Given the description of an element on the screen output the (x, y) to click on. 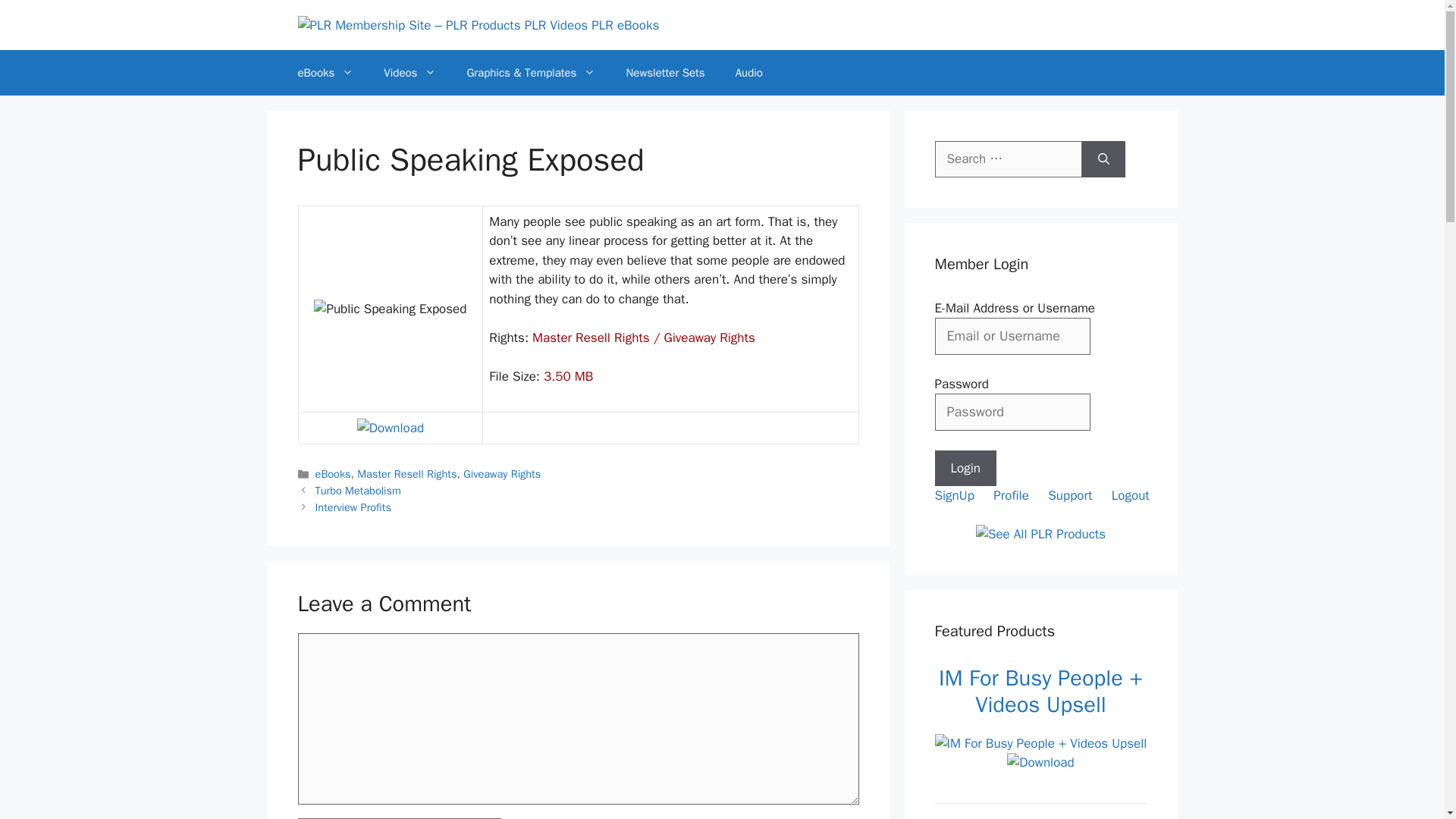
Login (964, 468)
SignUp  (955, 495)
eBooks (332, 473)
Public Speaking Exposed 6 (389, 428)
Turbo Metabolism (358, 490)
Profile  (1012, 495)
Master Resell Rights (406, 473)
Newsletter Sets (664, 72)
Videos (409, 72)
Audio (748, 72)
eBooks (325, 72)
Support  (1072, 495)
Giveaway Rights (501, 473)
Interview Profits (353, 507)
Logout  (1132, 495)
